Given the description of an element on the screen output the (x, y) to click on. 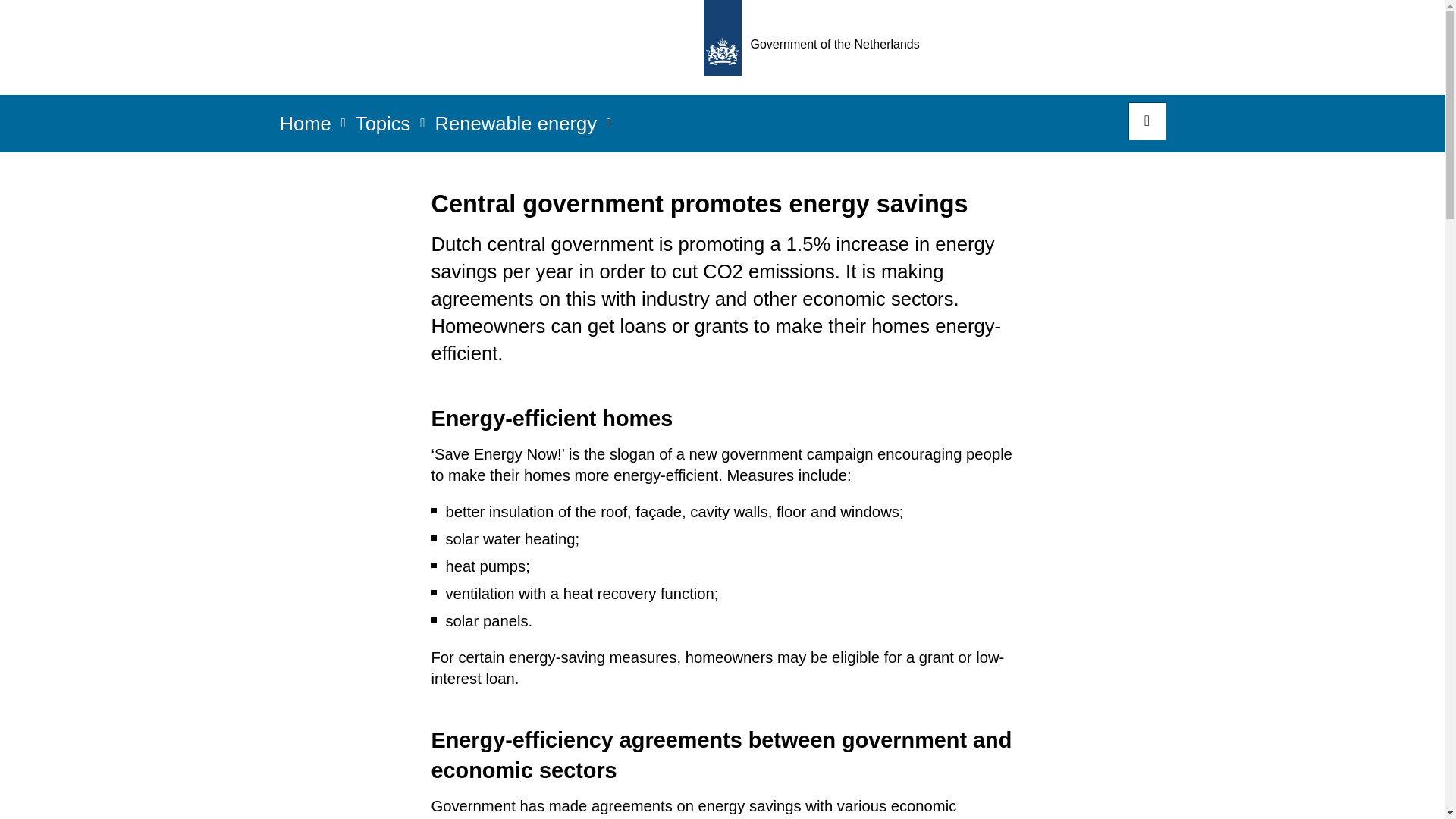
Renewable energy (514, 128)
Home (304, 128)
Search (1146, 121)
Start search (1146, 121)
Topics (382, 128)
Send (29, 21)
Government of the Netherlands (815, 47)
